Given the description of an element on the screen output the (x, y) to click on. 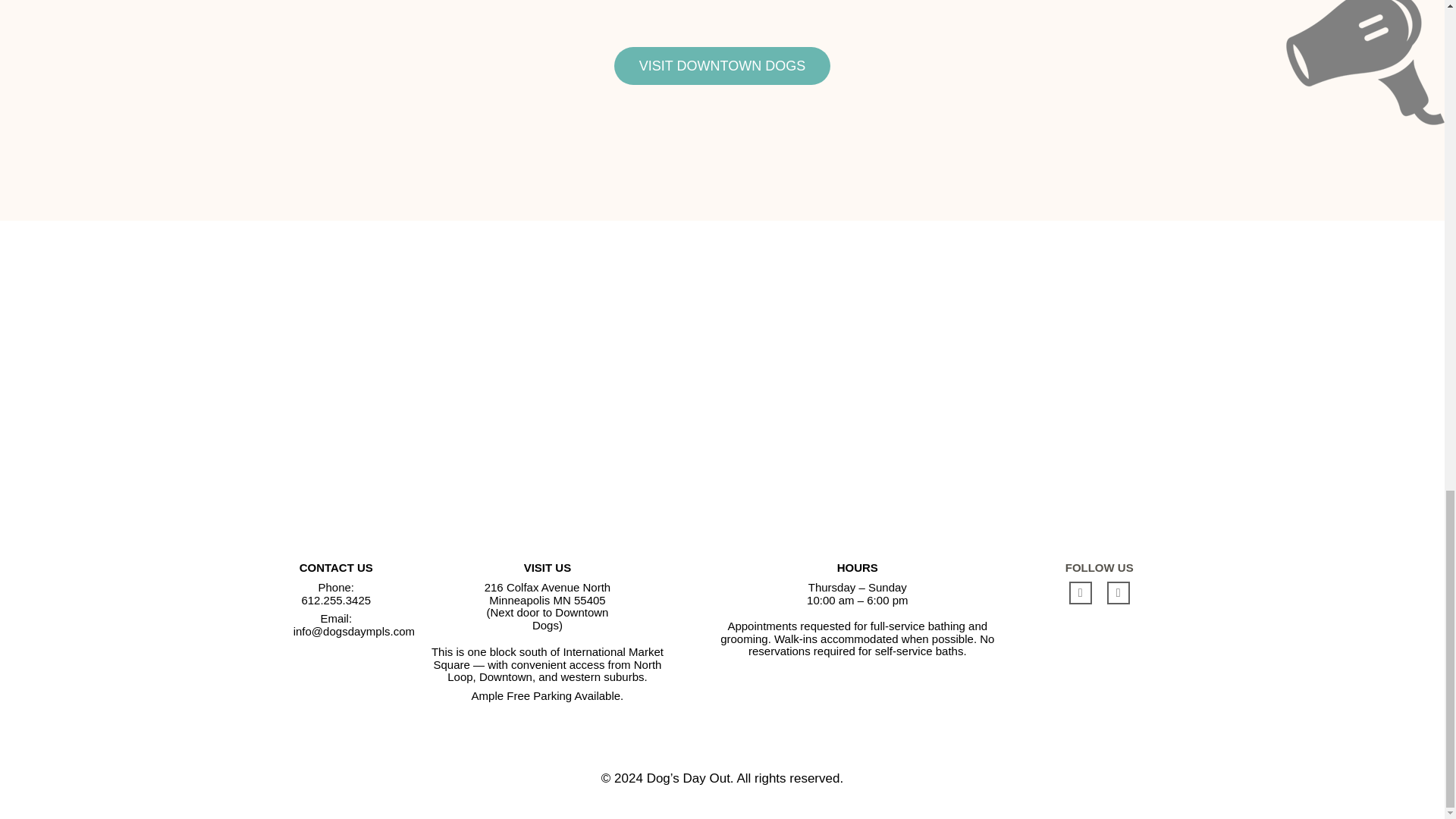
216 Colfax Avenue North Minneapolis MN 55405 (547, 593)
612.255.3425 (336, 599)
VISIT DOWNTOWN DOGS (721, 65)
